Given the description of an element on the screen output the (x, y) to click on. 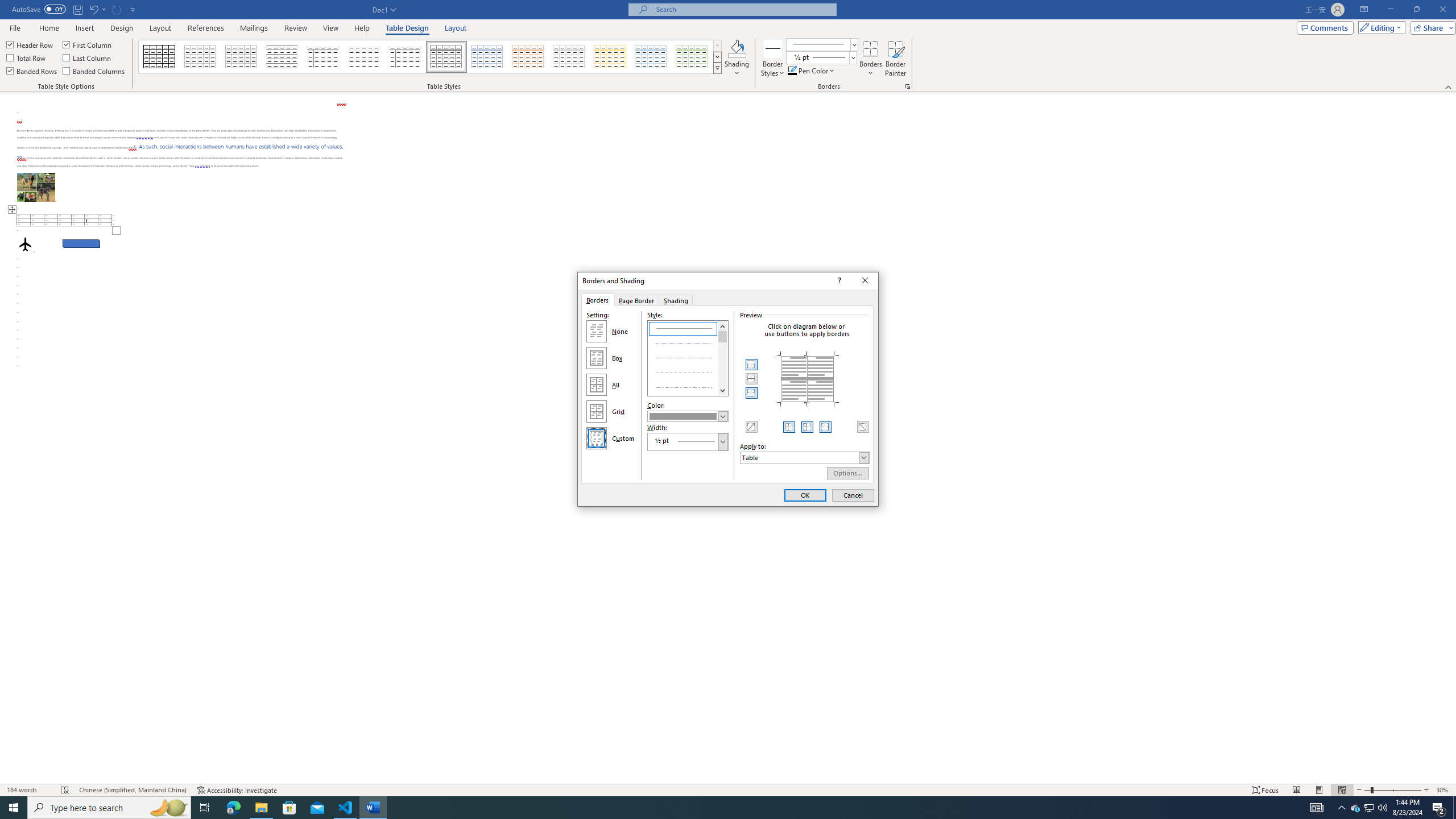
Bottom Border (751, 392)
Right Border (824, 426)
Border Styles (773, 58)
Line down (722, 390)
All (596, 384)
Search highlights icon opens search home window (167, 807)
Class: MsoCommandBar (728, 45)
Plain Table 4 (363, 56)
Borders and Shading... (907, 85)
Airplane with solid fill (25, 243)
Row Down (717, 56)
